Given the description of an element on the screen output the (x, y) to click on. 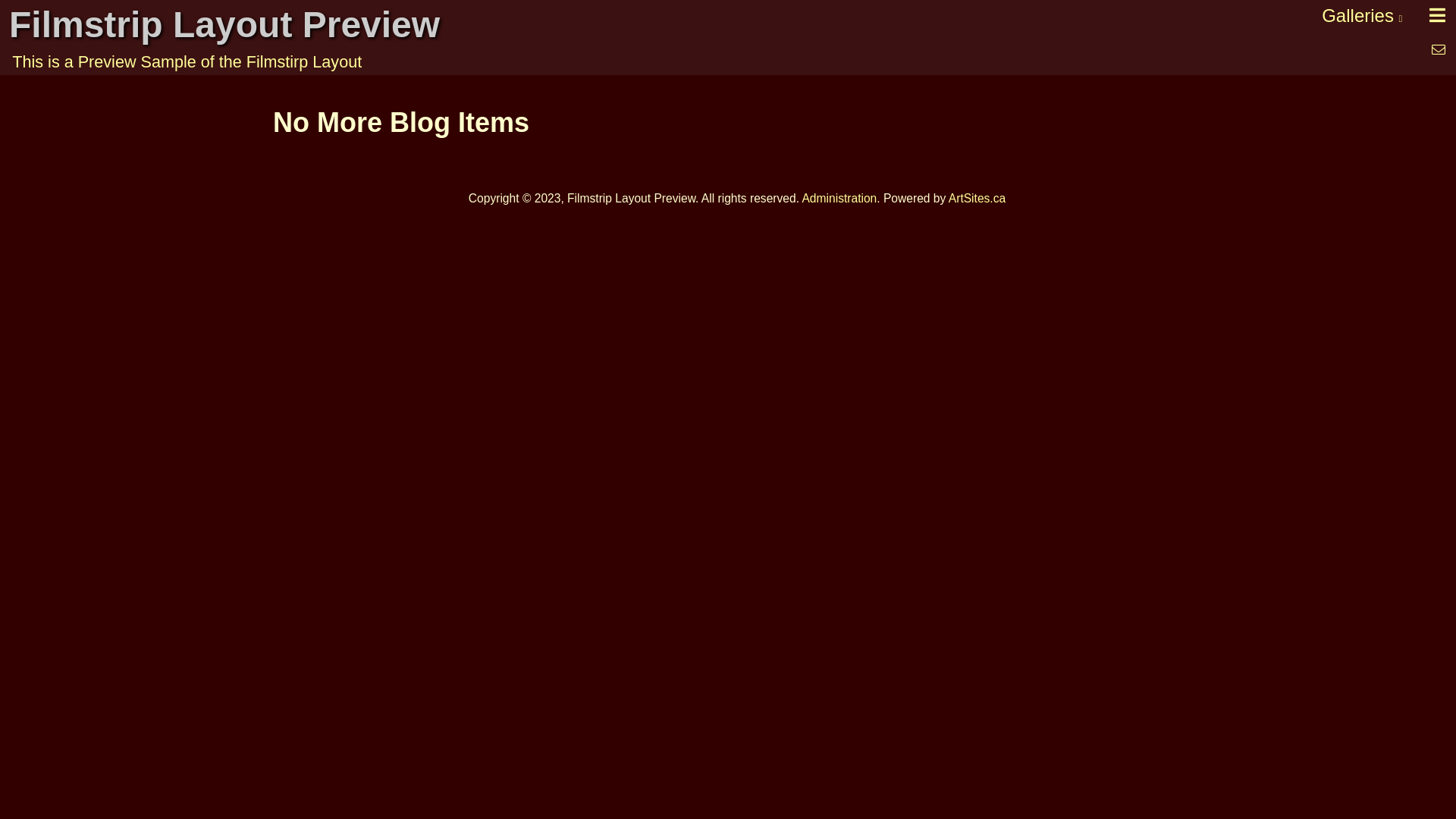
This is a Preview Sample of the Filmstirp Layout Element type: text (660, 62)
Administration Element type: text (838, 197)
ArtSites.ca Element type: text (976, 197)
Filmstrip Layout Preview Element type: text (660, 24)
